Given the description of an element on the screen output the (x, y) to click on. 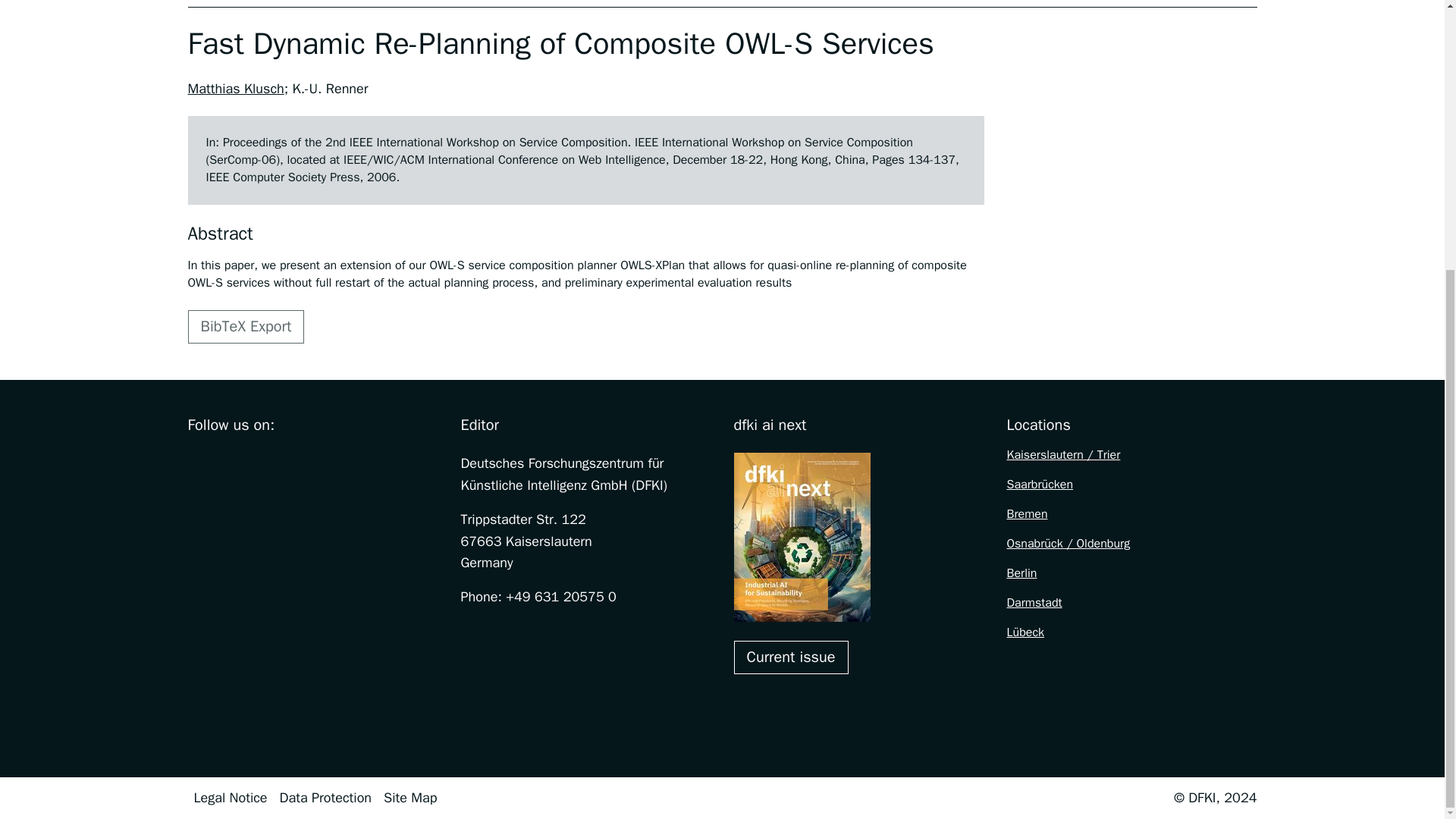
Follow us on: X (260, 462)
Follow us on: LinkedIn (324, 462)
Follow us on: Facebook (197, 462)
To AI Magazine dfki ai next (790, 657)
Follow us on: Instagram (229, 462)
Follow us on: Youtube (292, 462)
